Given the description of an element on the screen output the (x, y) to click on. 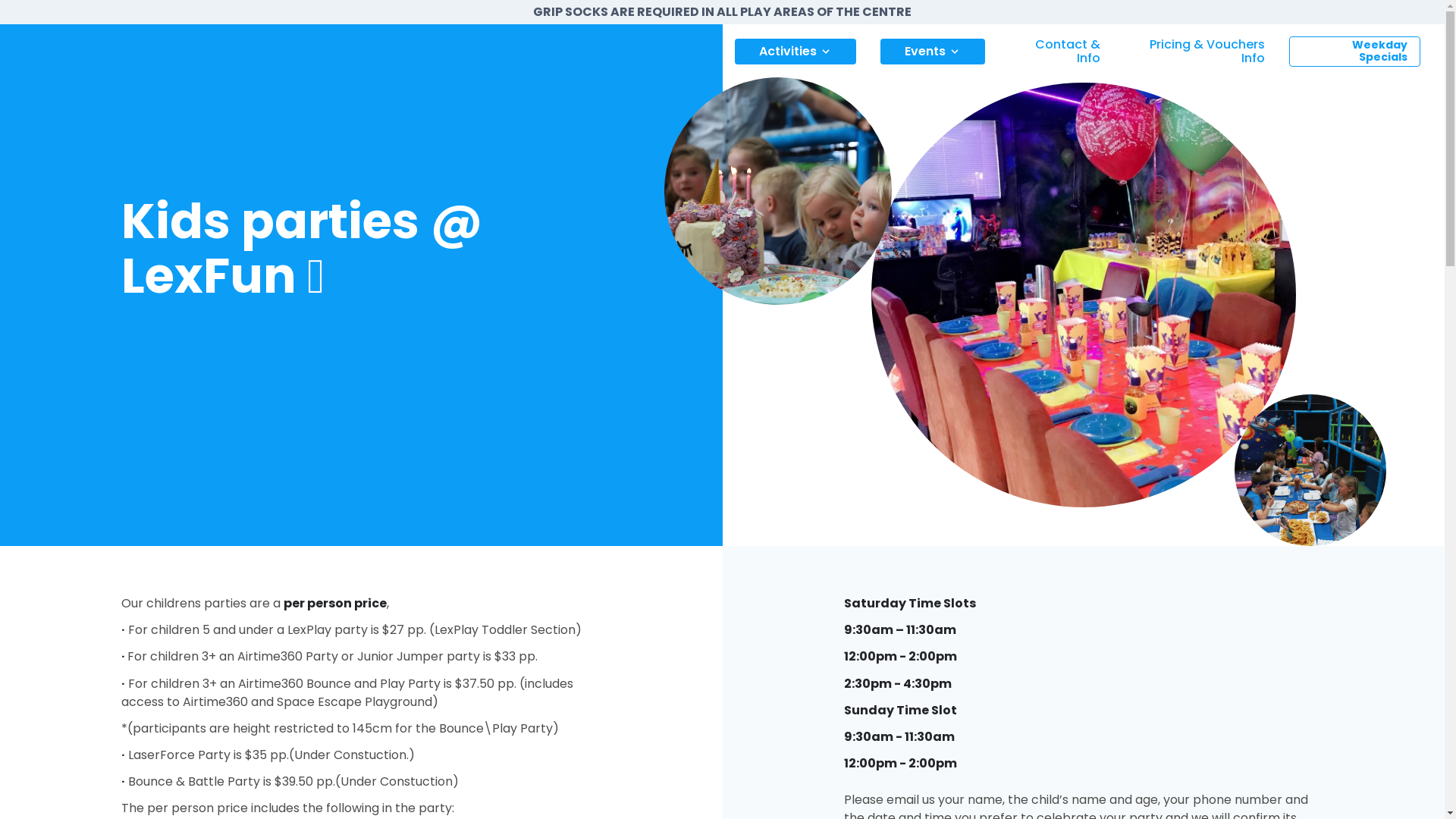
Weekday Specials Element type: text (1354, 51)
Pricing & Vouchers Info Element type: text (1194, 51)
Activities Element type: text (794, 51)
GRIP SOCKS ARE REQUIRED IN ALL PLAY AREAS OF THE CENTRE Element type: text (722, 12)
Events Element type: text (931, 51)
Contact & Info Element type: text (1053, 51)
